Given the description of an element on the screen output the (x, y) to click on. 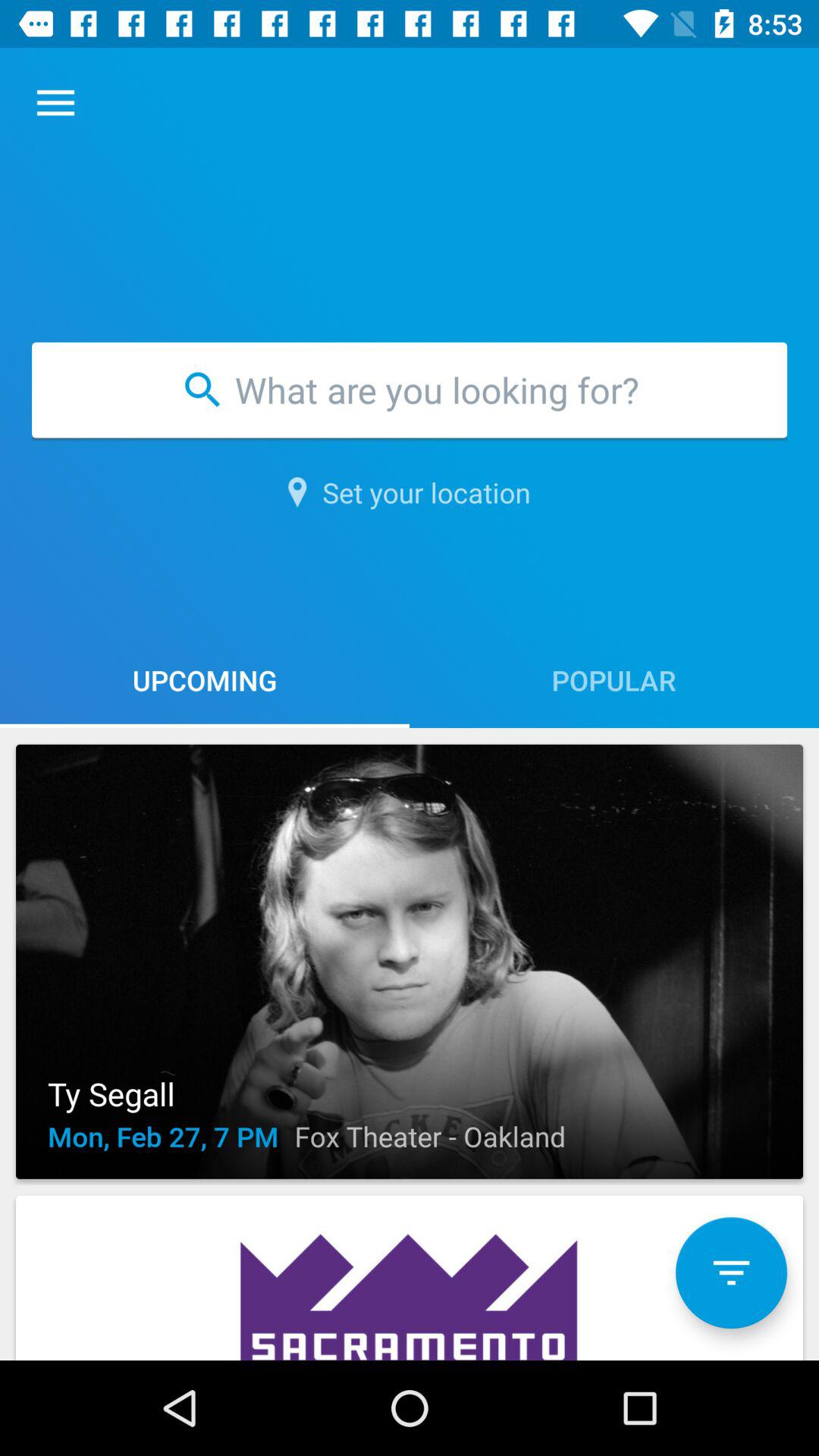
volume button (731, 1272)
